Given the description of an element on the screen output the (x, y) to click on. 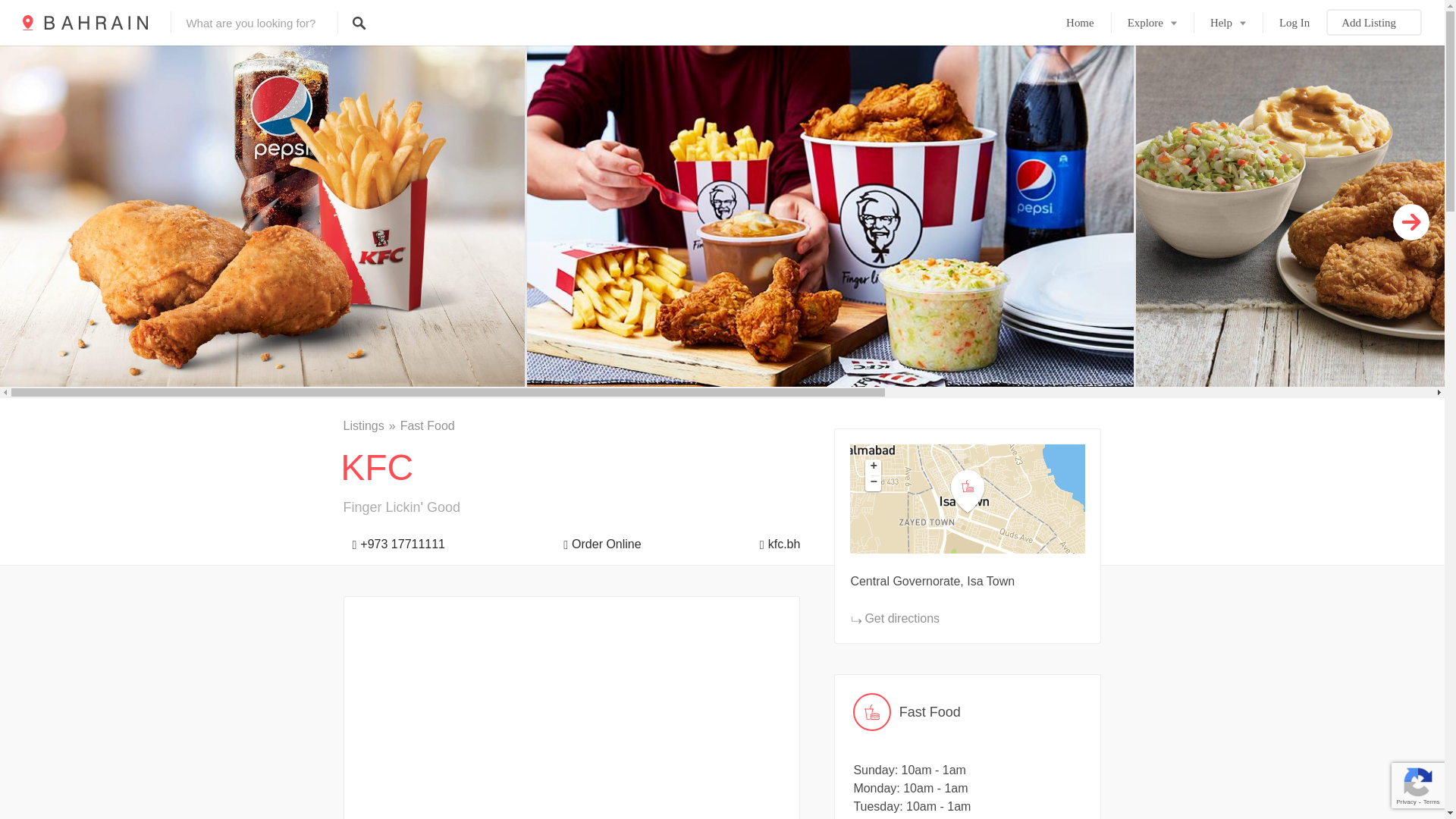
Home (1079, 22)
Zoom out (872, 483)
Advertisement (571, 717)
Explore (1151, 22)
Zoom in (872, 467)
